Given the description of an element on the screen output the (x, y) to click on. 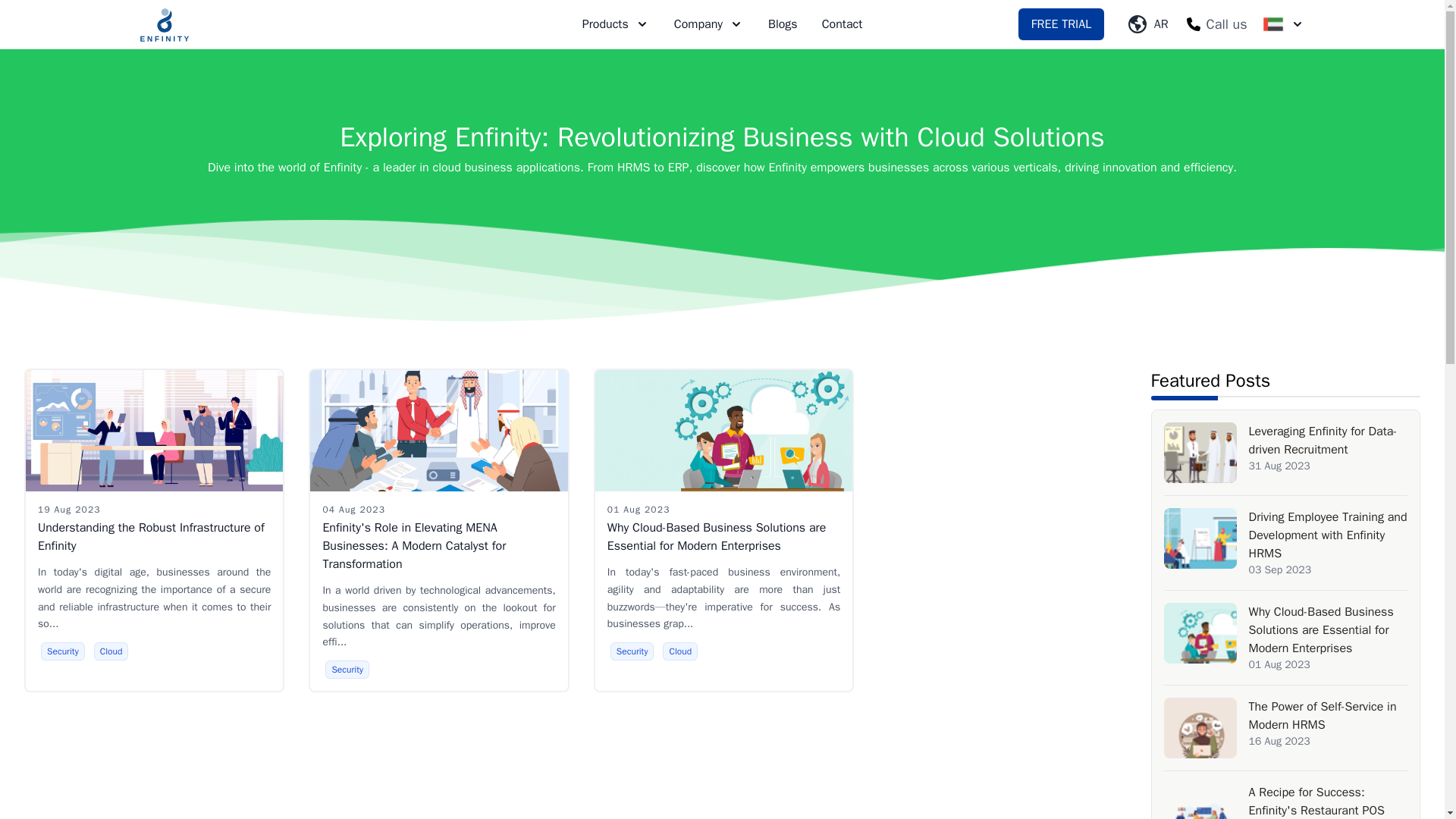
Contact (842, 24)
Enfinity (163, 23)
Products (616, 24)
Company (708, 24)
link to home page (163, 23)
